Given the description of an element on the screen output the (x, y) to click on. 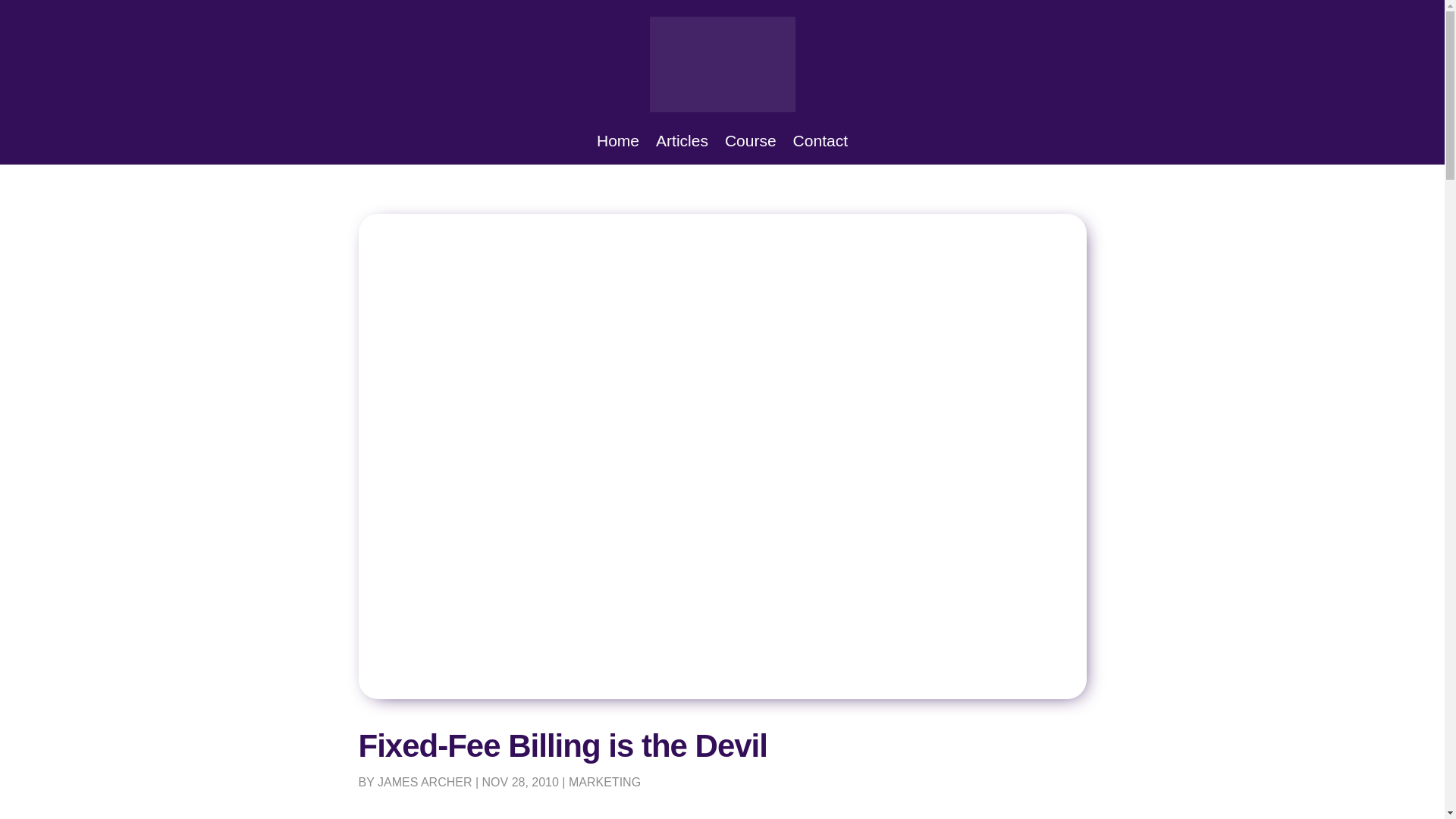
MARKETING (604, 781)
Contact (820, 143)
JAMES ARCHER (424, 781)
Course (750, 143)
Articles (681, 143)
ja logo pink (721, 64)
Posts by James Archer (424, 781)
Home (617, 143)
